Given the description of an element on the screen output the (x, y) to click on. 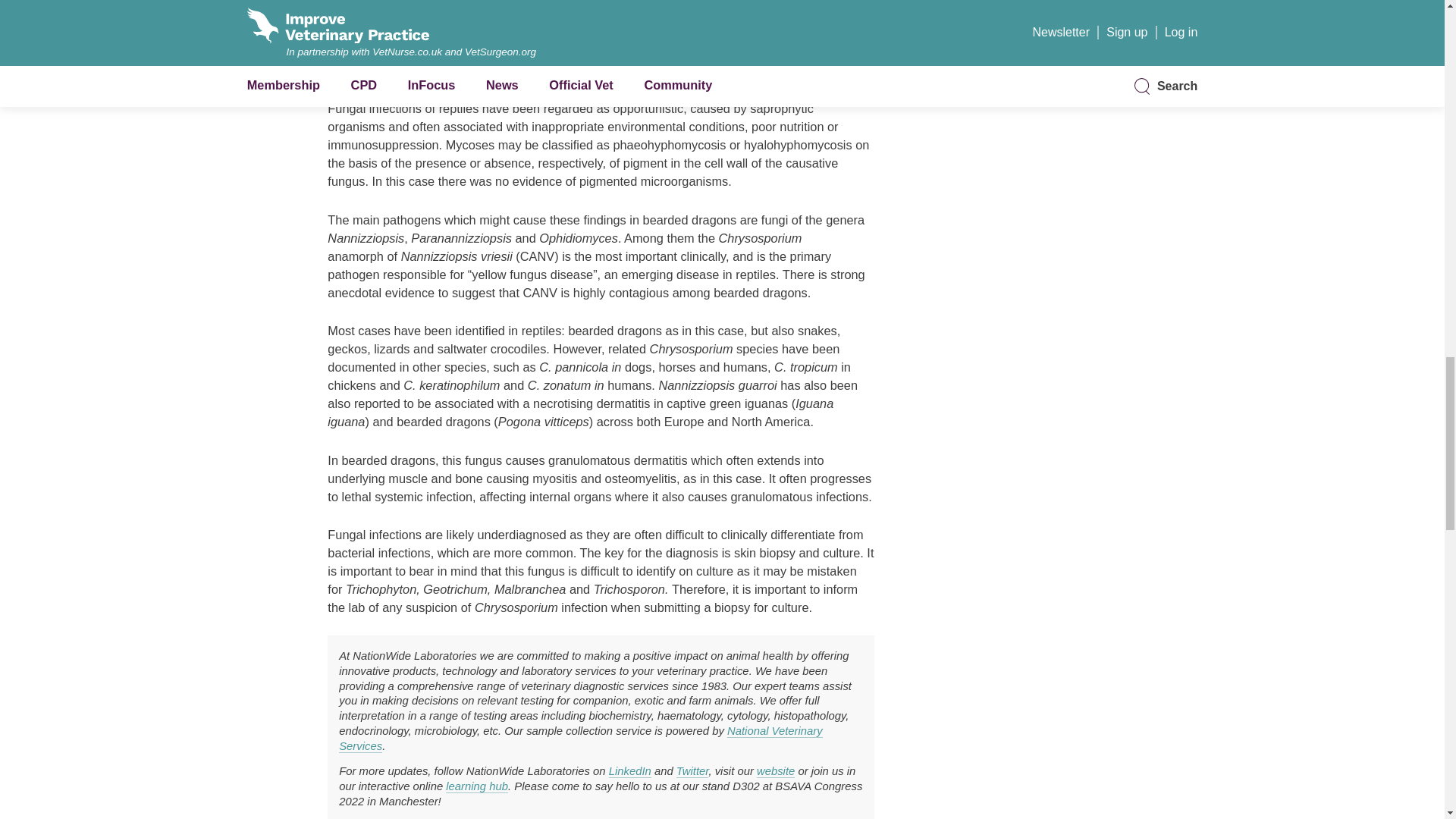
learning hub (476, 786)
Twitter (693, 771)
LinkedIn (629, 771)
website (775, 771)
National Veterinary Services (580, 738)
